Given the description of an element on the screen output the (x, y) to click on. 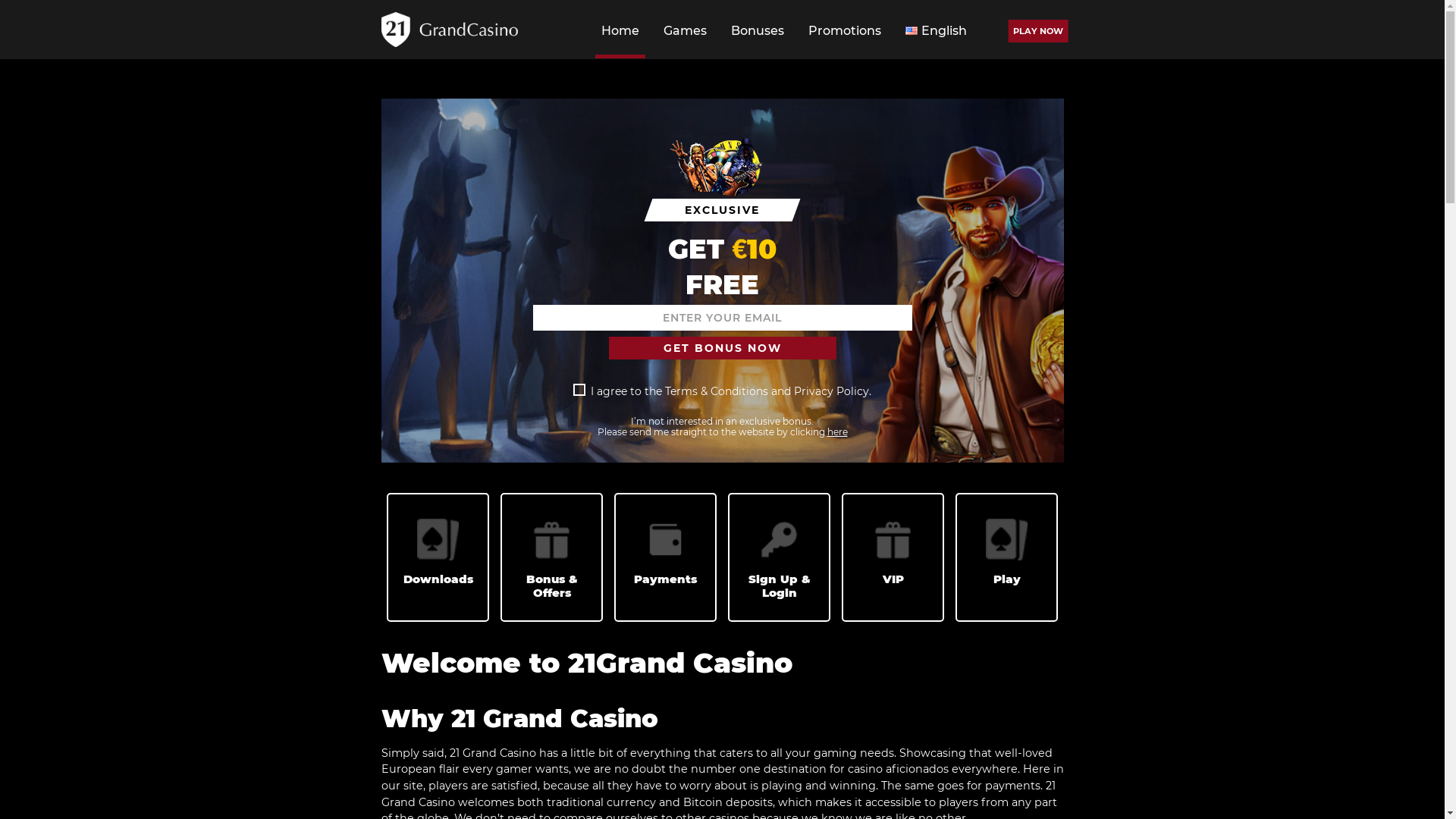
VIP Element type: text (892, 539)
21Grand  Casino Element type: hover (448, 29)
Downloads Element type: text (437, 539)
Bonus & Offers Element type: text (551, 539)
Games Element type: text (684, 32)
Payments Element type: text (664, 539)
Play at the 21 Grand Online Casino with a Special Bonus! 2 Element type: hover (739, 248)
here Element type: text (836, 431)
Bonuses Element type: text (757, 32)
English Element type: text (935, 32)
Sign Up & Login Element type: text (778, 539)
PLAY NOW Element type: text (1037, 30)
Play Element type: text (1006, 539)
Promotions Element type: text (844, 32)
Home Element type: text (620, 32)
Privacy Policy Element type: text (831, 391)
Terms & Conditions Element type: text (716, 391)
GET BONUS NOW Element type: text (721, 347)
